Given the description of an element on the screen output the (x, y) to click on. 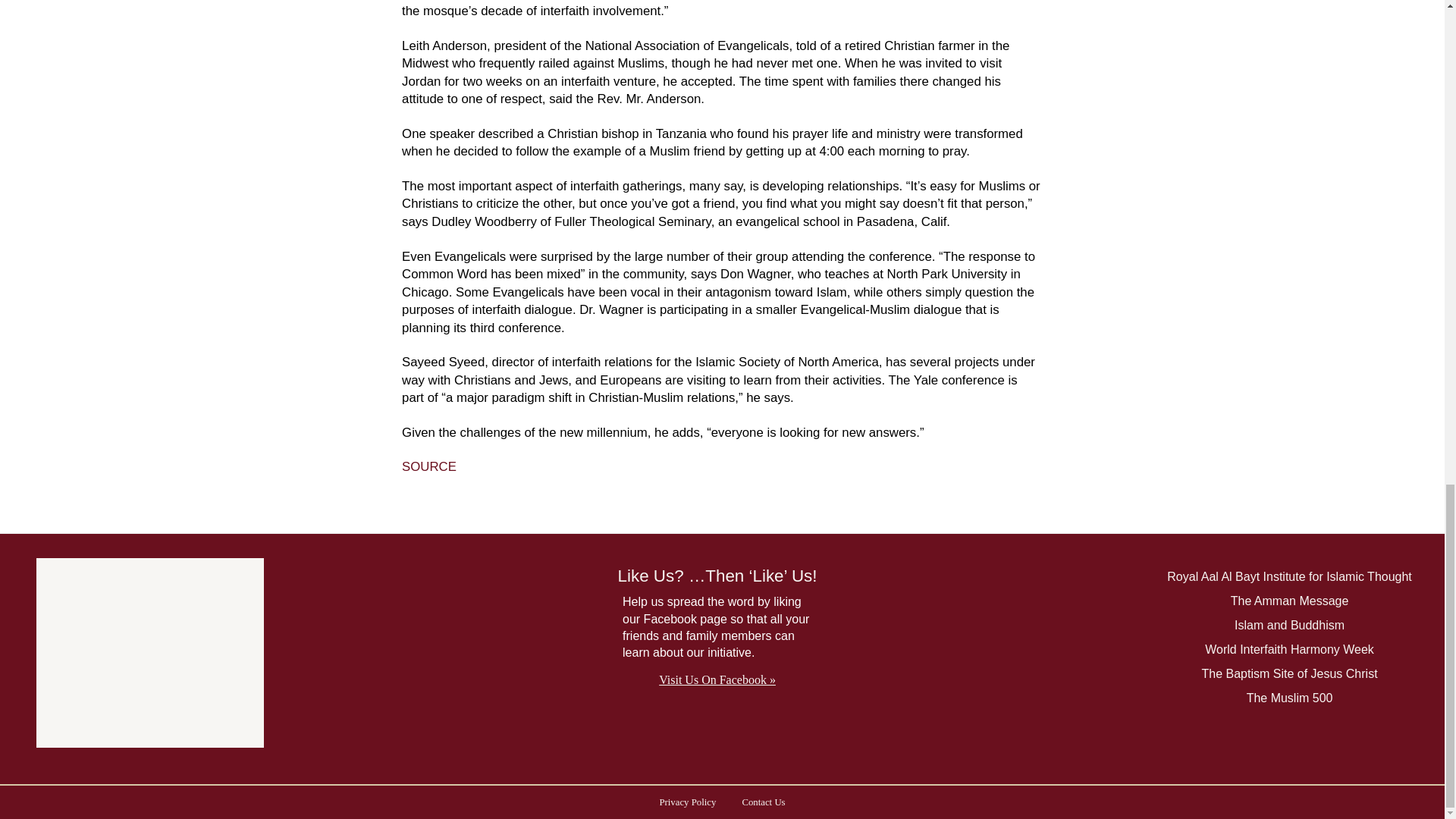
SOURCE (429, 466)
The Amman Message (1289, 601)
The Muslim 500 (1289, 698)
Islam and Buddhism (1288, 626)
The Baptism Site of Jesus Christ (1288, 674)
World Interfaith Harmony Week (1288, 649)
Royal Aal Al Bayt Institute for Islamic Thought (1288, 577)
